Given the description of an element on the screen output the (x, y) to click on. 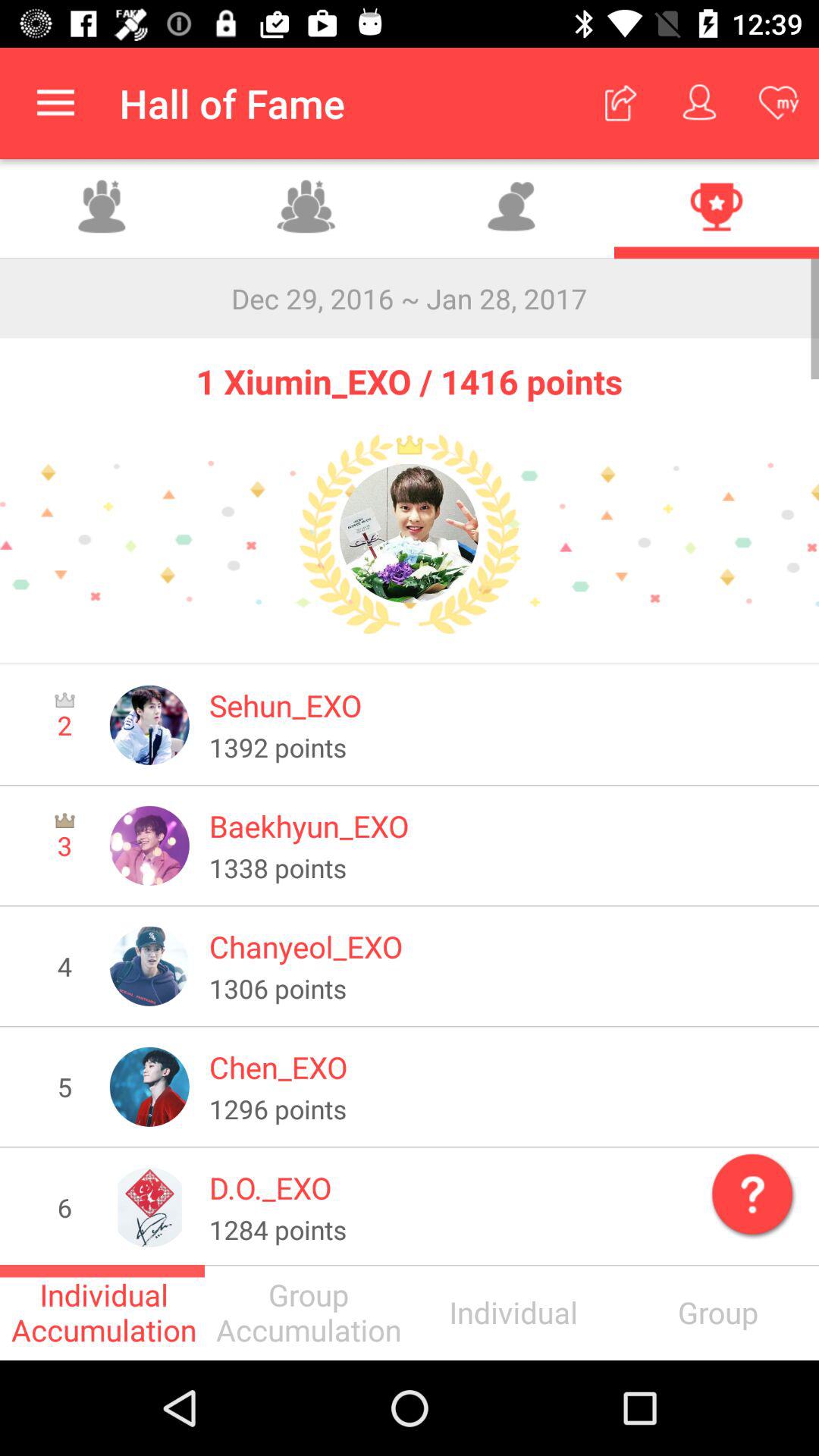
option view the group (102, 208)
